Given the description of an element on the screen output the (x, y) to click on. 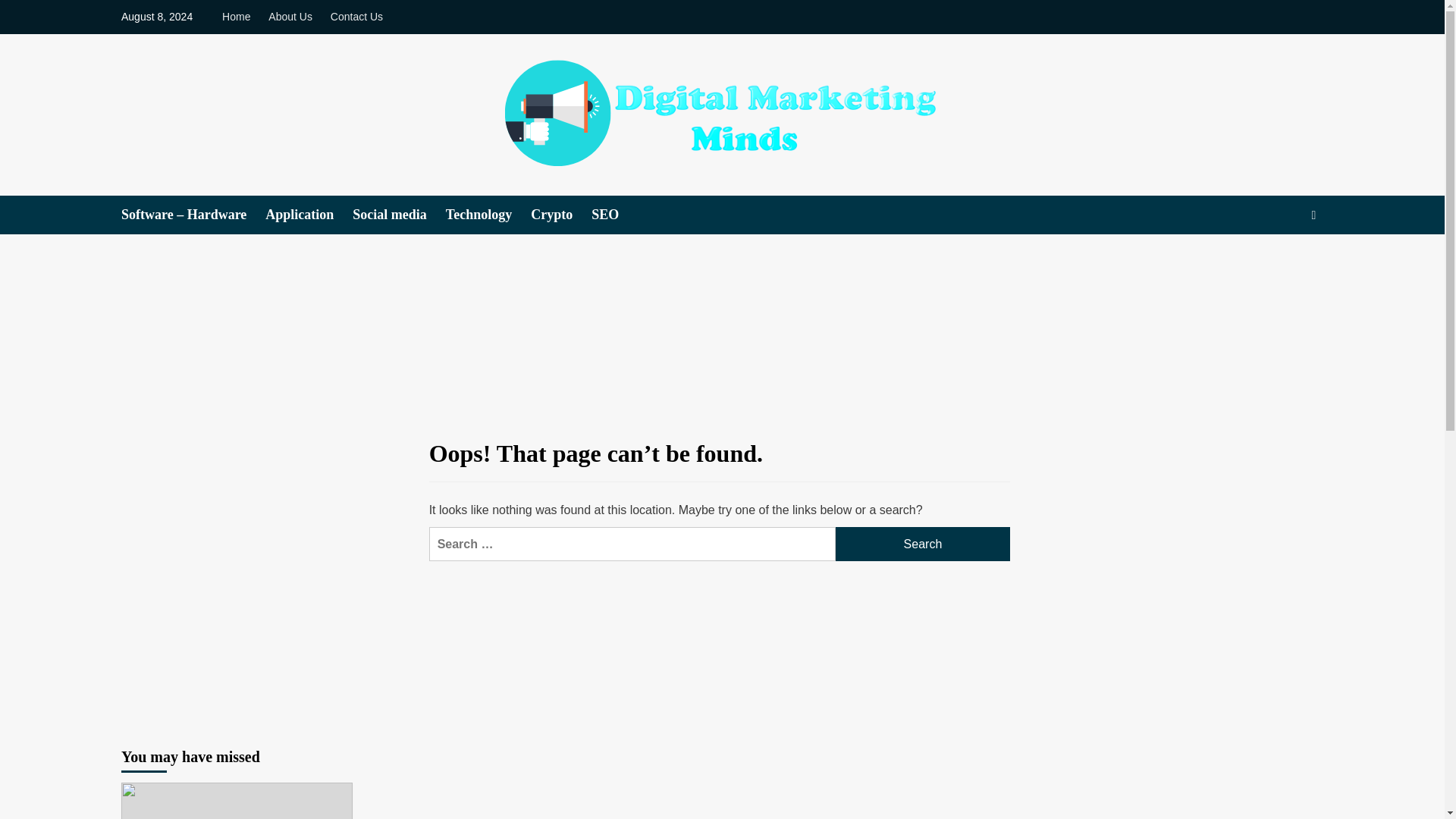
Search (1278, 261)
Crypto (561, 214)
Search (922, 544)
About Us (290, 17)
Search (922, 544)
Search (922, 544)
Home (239, 17)
Application (308, 214)
Technology (488, 214)
Social media (398, 214)
Contact Us (356, 17)
SEO (614, 214)
